Given the description of an element on the screen output the (x, y) to click on. 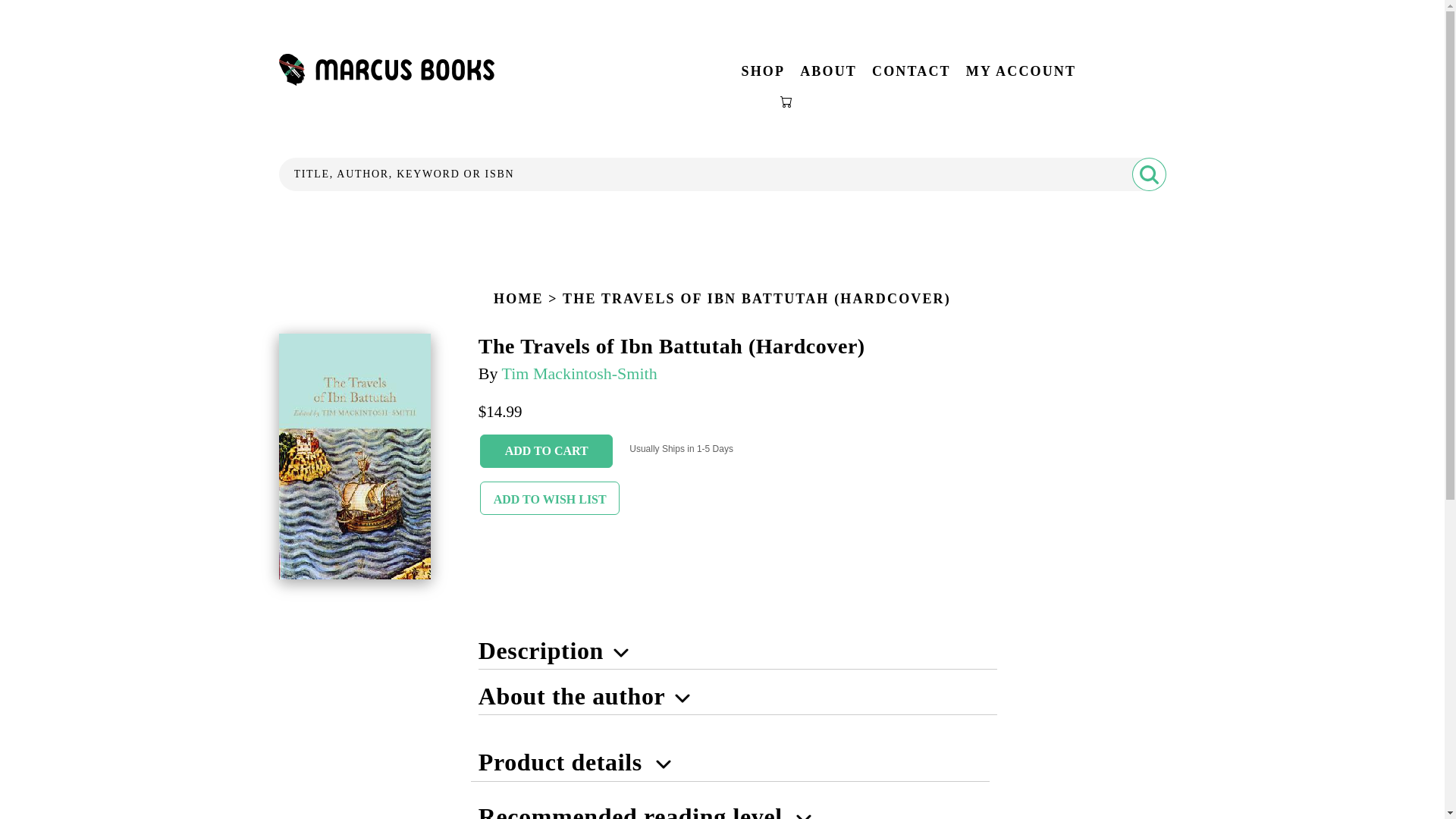
CONTACT (911, 71)
HOME (518, 298)
Enter the terms you wish to search for. (722, 174)
Home (387, 81)
Search (1148, 174)
Tim Mackintosh-Smith (580, 373)
SHOP (763, 71)
Add to Cart (546, 450)
CART (786, 101)
ABOUT (828, 71)
ADD TO WISH LIST (550, 498)
MY ACCOUNT (1020, 71)
Search (1148, 174)
Add to Cart (546, 450)
